Given the description of an element on the screen output the (x, y) to click on. 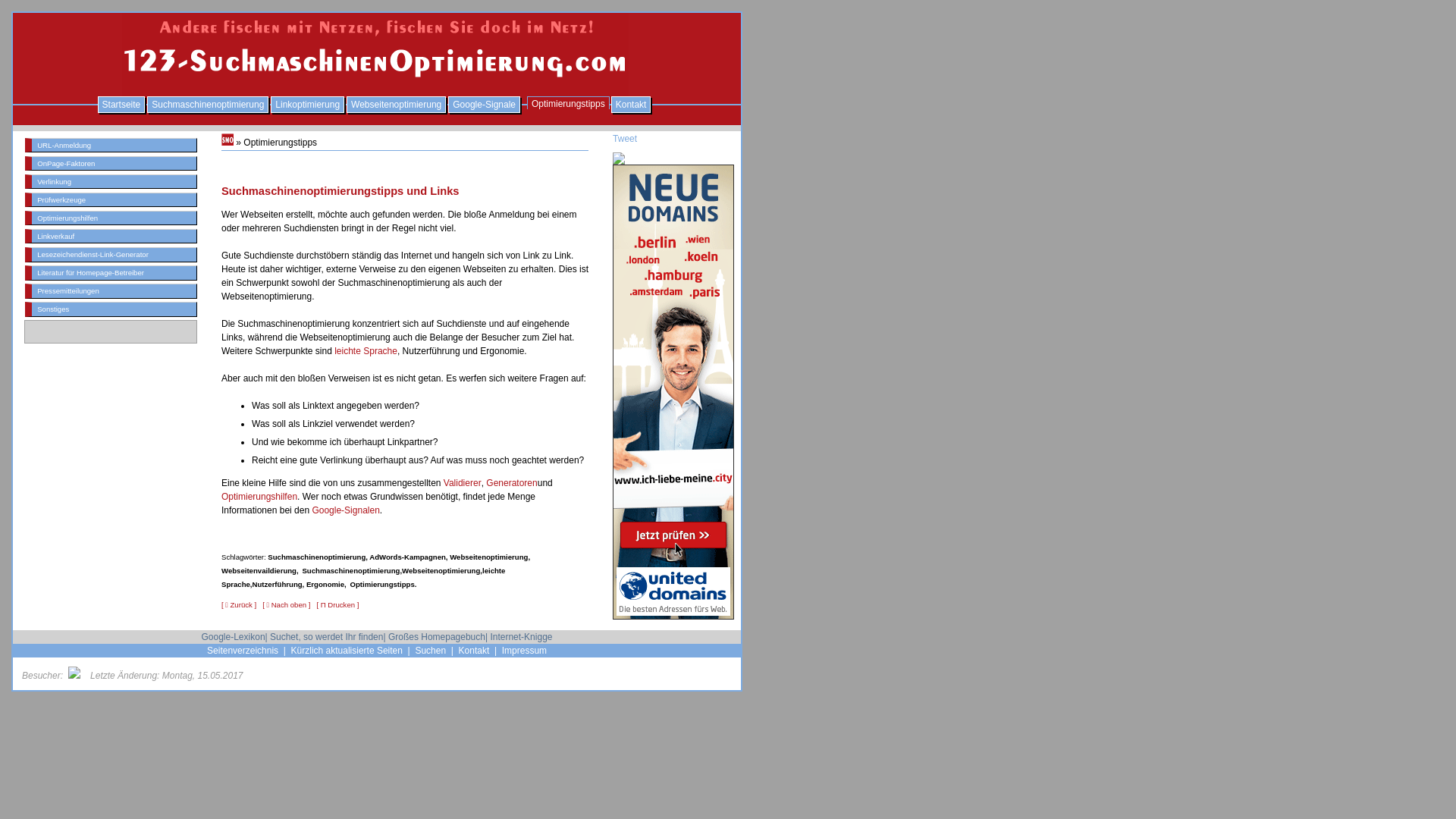
Tweet Element type: text (673, 138)
Google-Lexikon Element type: text (233, 636)
Verlinkung Element type: text (111, 181)
Suchet, so werdet Ihr finden Element type: text (325, 636)
leichte Sprache Element type: text (365, 350)
Sonstiges Element type: text (111, 308)
Optimierungshilfen Element type: text (111, 217)
Seitenverzeichnis Element type: text (242, 650)
Webseitenoptimierung Element type: text (395, 104)
Google-Signalen Element type: text (345, 510)
Google-Signale Element type: text (484, 104)
Kontakt Element type: text (473, 650)
URL-Anmeldung Element type: text (111, 145)
Internet-Knigge Element type: text (520, 636)
Optimierungshilfen Element type: text (259, 496)
Suchen Element type: text (429, 650)
Linkoptimierung Element type: text (307, 104)
Optimierungstipps Element type: text (568, 102)
OnPage-Faktoren Element type: text (111, 163)
Linkverkauf Element type: text (111, 236)
Kontakt Element type: text (631, 104)
Pressemitteilungen Element type: text (111, 290)
Impressum Element type: text (524, 650)
Lesezeichendienst-Link-Generator Element type: text (111, 254)
Validierer Element type: text (462, 482)
Generatoren Element type: text (511, 482)
Suchmaschinenoptimierung Element type: text (207, 104)
Startseite Element type: text (121, 104)
